Given the description of an element on the screen output the (x, y) to click on. 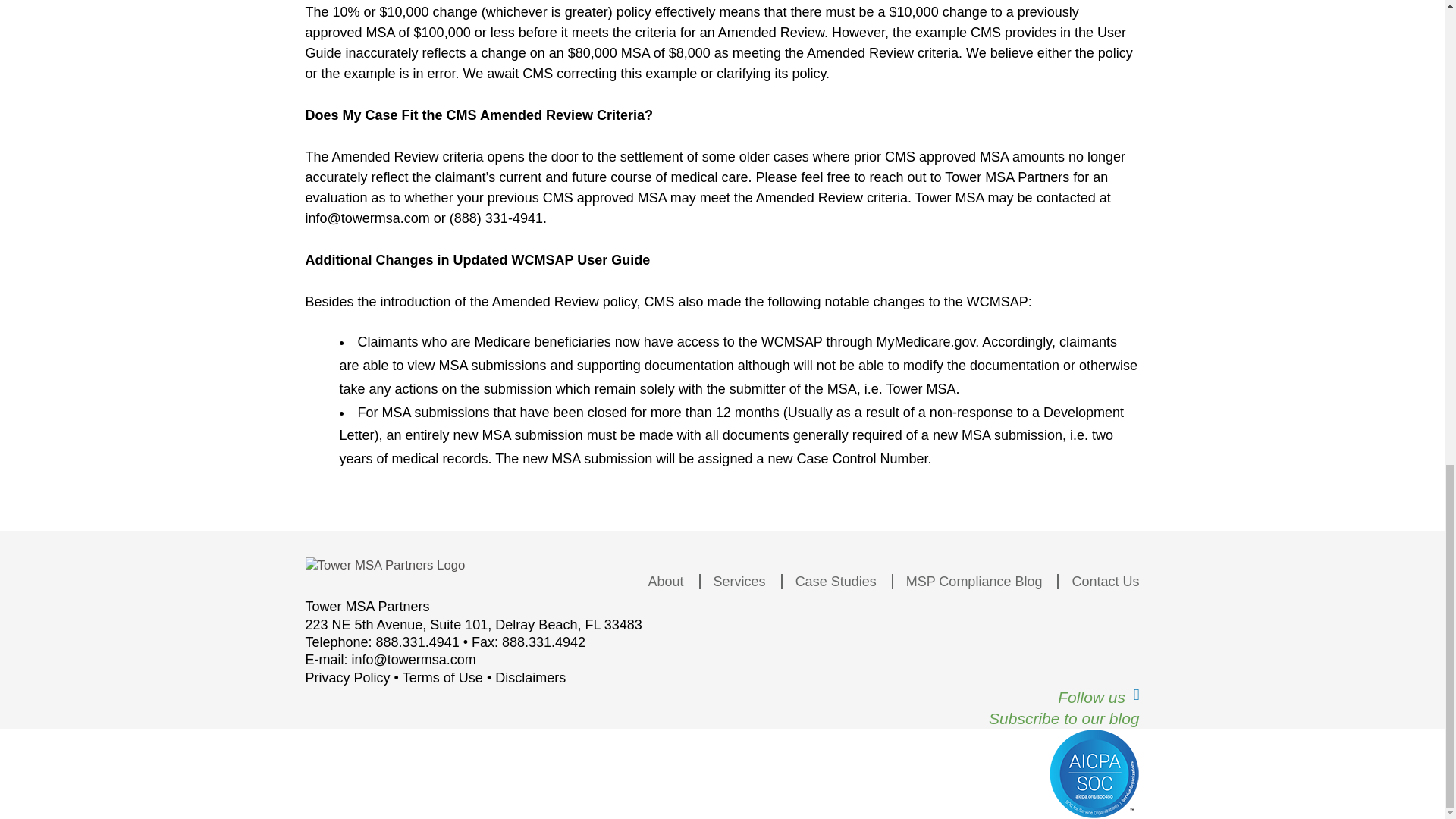
About (659, 581)
Services (732, 581)
logo2x (384, 565)
